Given the description of an element on the screen output the (x, y) to click on. 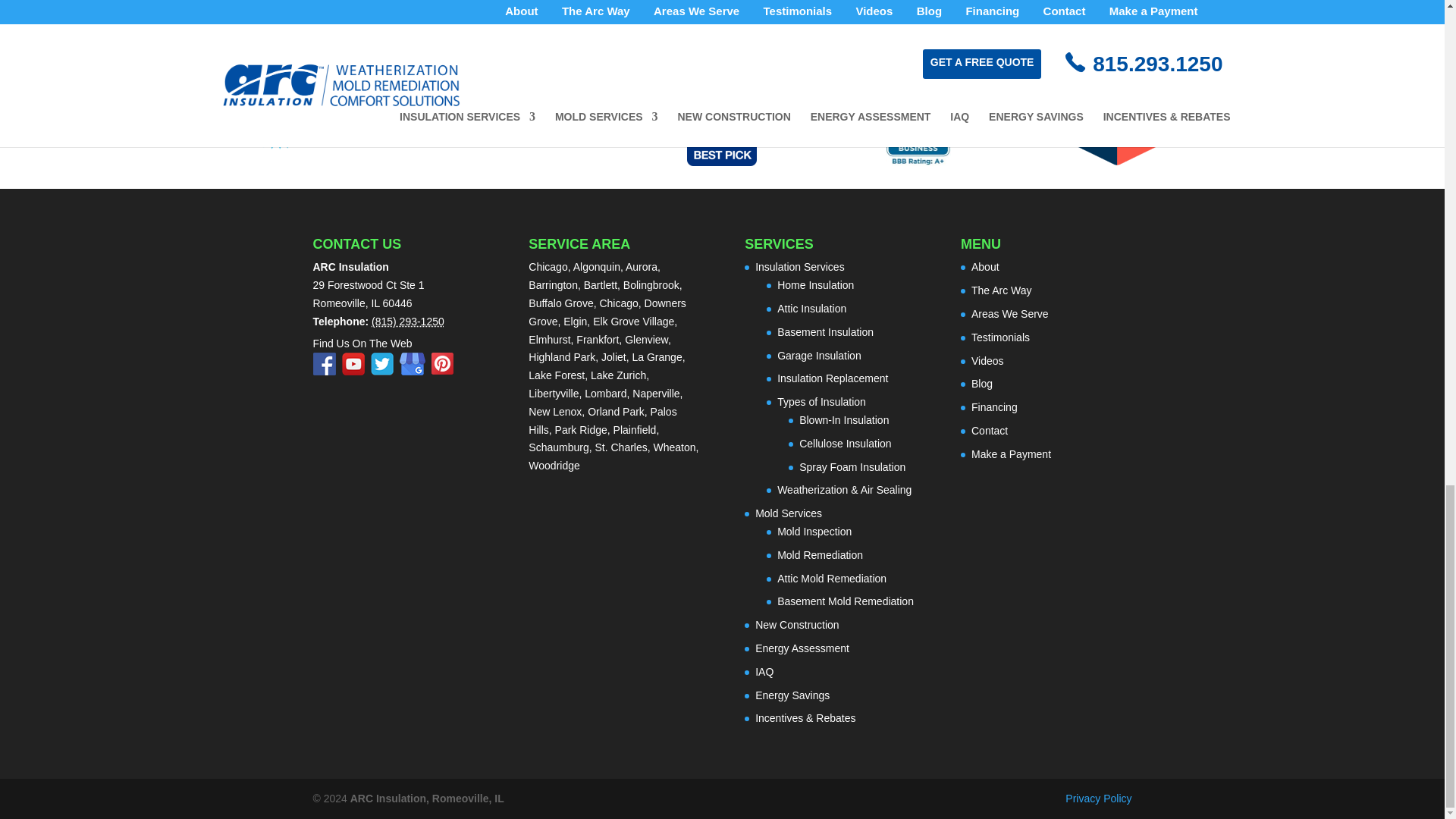
Angi 2022 (1114, 109)
Nicor Gas (329, 108)
ComEd (526, 108)
BBB (918, 109)
Best Pick (722, 109)
